Given the description of an element on the screen output the (x, y) to click on. 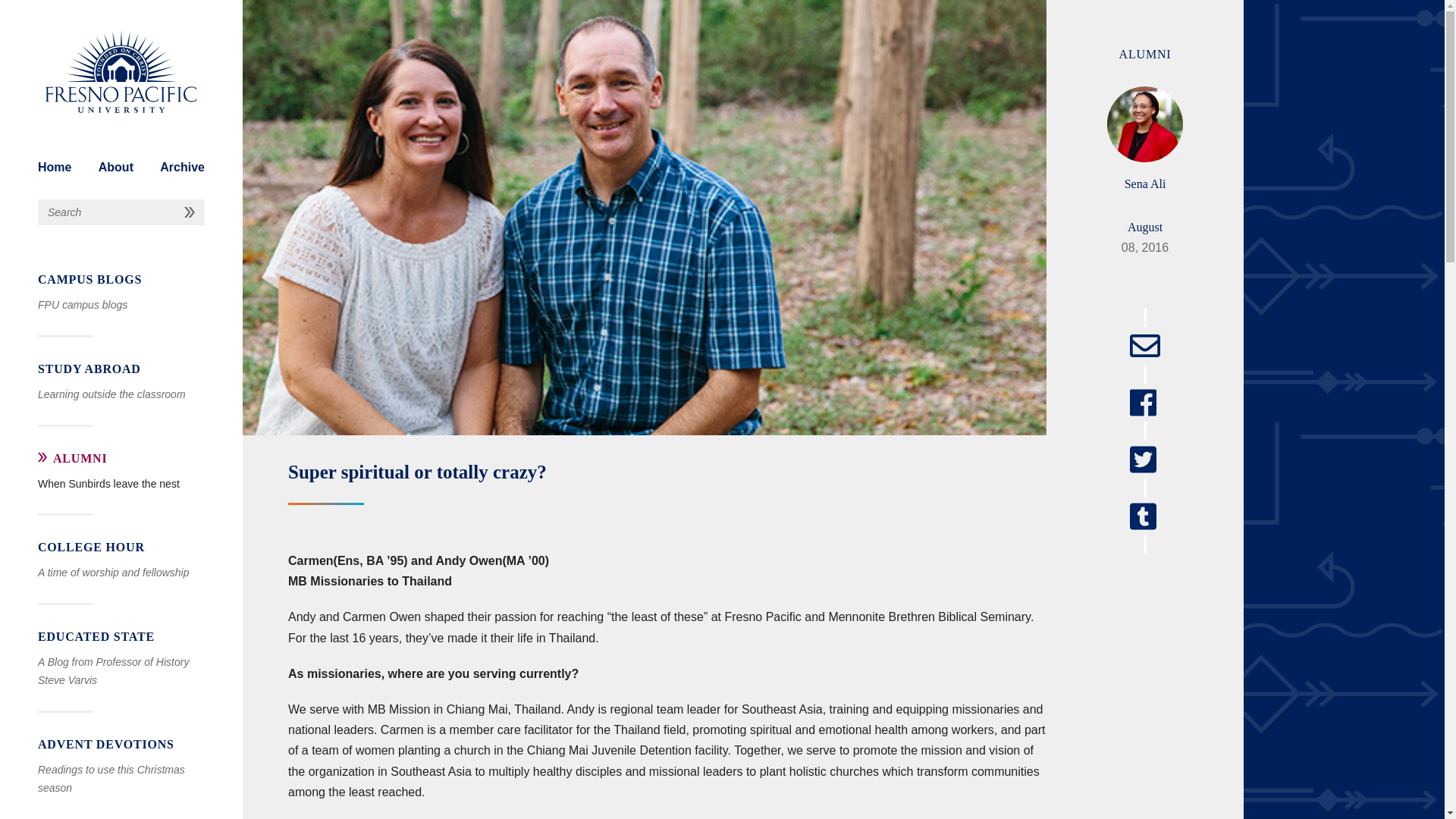
Archive (182, 166)
STUDY ABROAD (121, 369)
COLLEGE HOUR (121, 547)
ALUMNI (1145, 53)
EDUCATED STATE (121, 637)
ALUMNI (121, 458)
About (116, 166)
Home (54, 166)
CAMPUS BLOGS (121, 280)
ADVENT DEVOTIONS (121, 744)
